Given the description of an element on the screen output the (x, y) to click on. 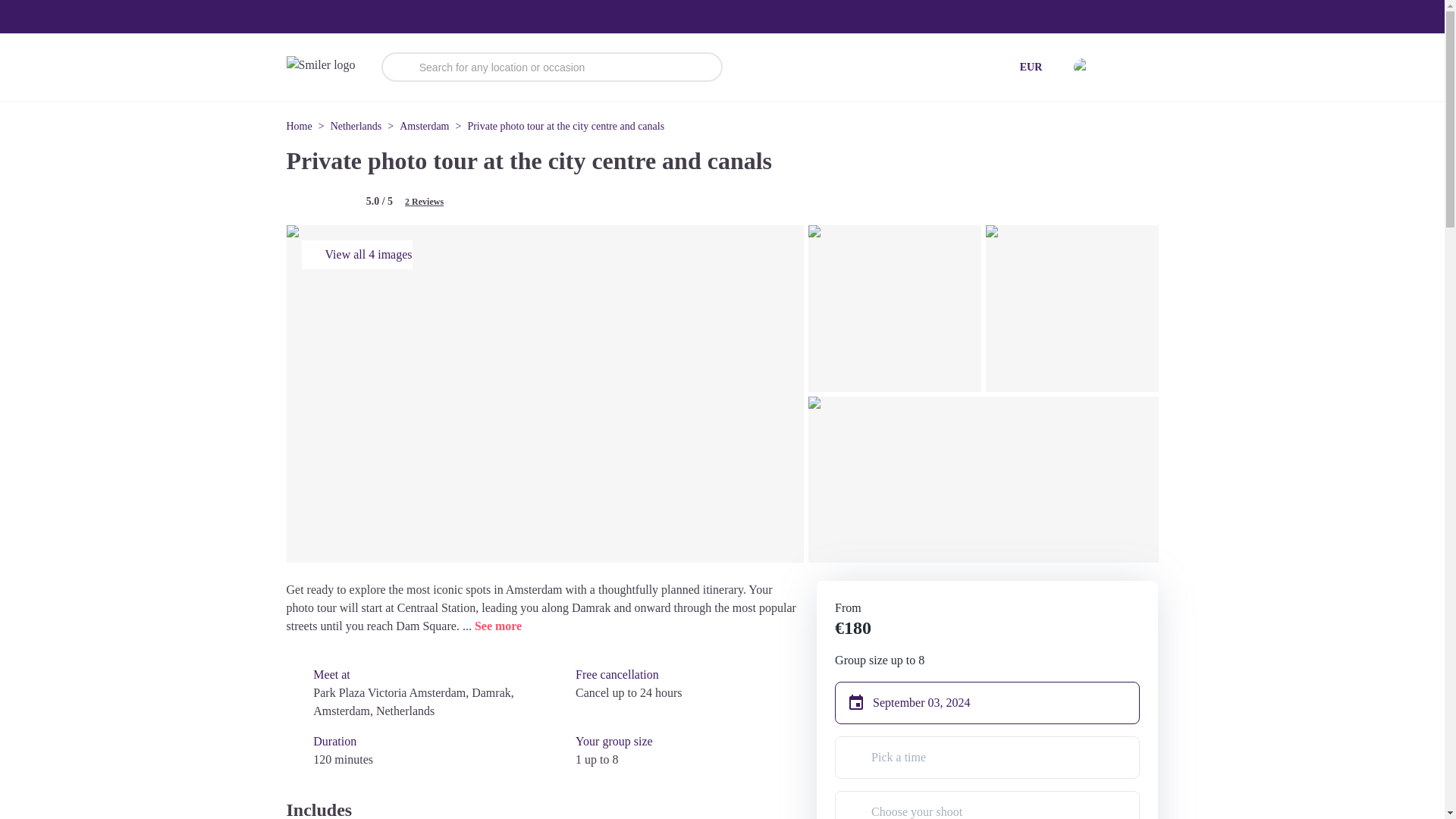
Choose your shoot (987, 805)
Amsterdam (423, 125)
Pick a time (987, 757)
Help (1133, 66)
EUR (1031, 66)
View all 4 images (356, 254)
Select currency (1031, 66)
Netherlands (355, 125)
September 03, 2024 (995, 702)
Home (299, 125)
